Given the description of an element on the screen output the (x, y) to click on. 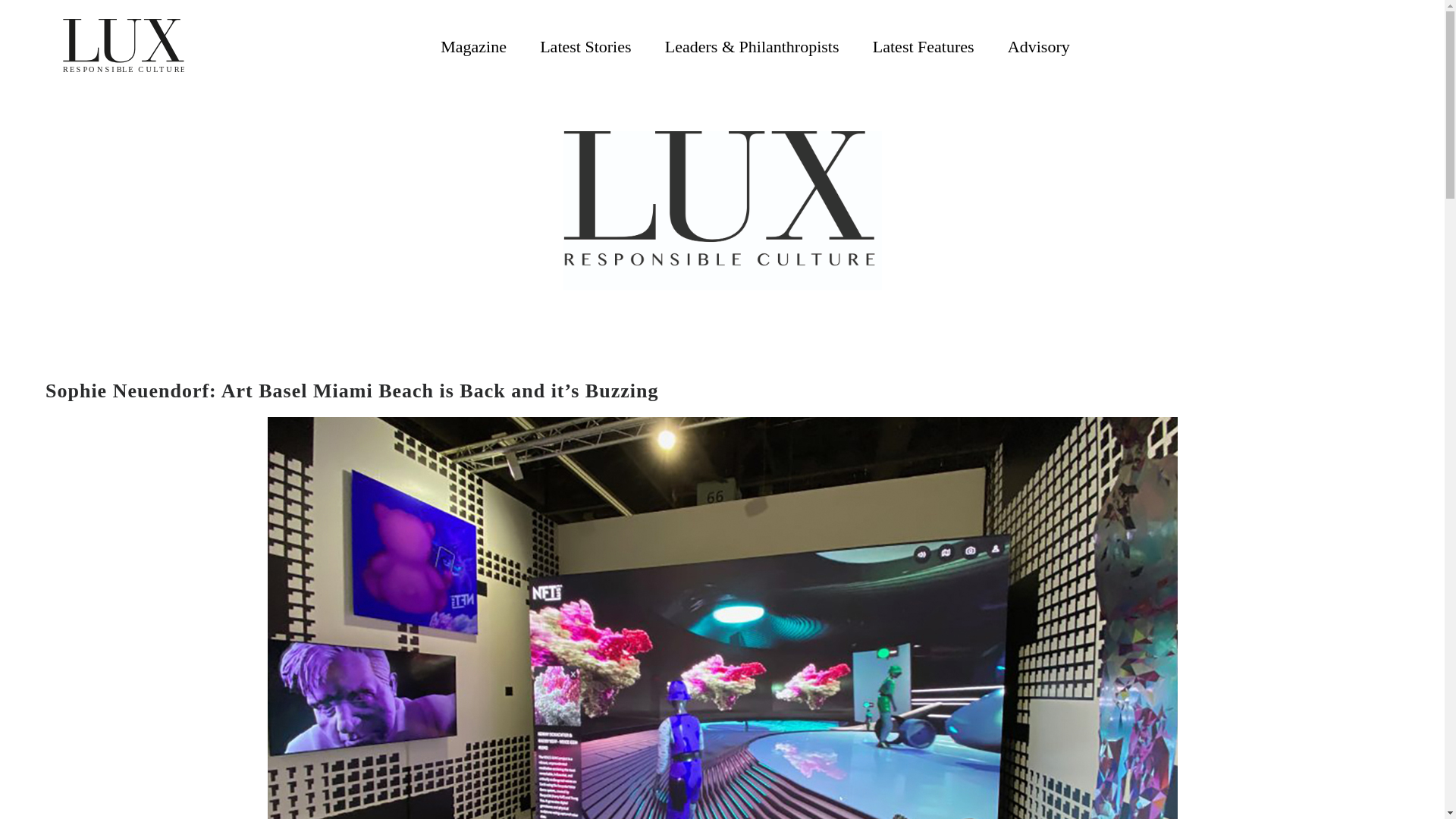
Latest Features (923, 46)
Magazine (473, 46)
Advisory (1038, 46)
Latest Stories (585, 46)
